Given the description of an element on the screen output the (x, y) to click on. 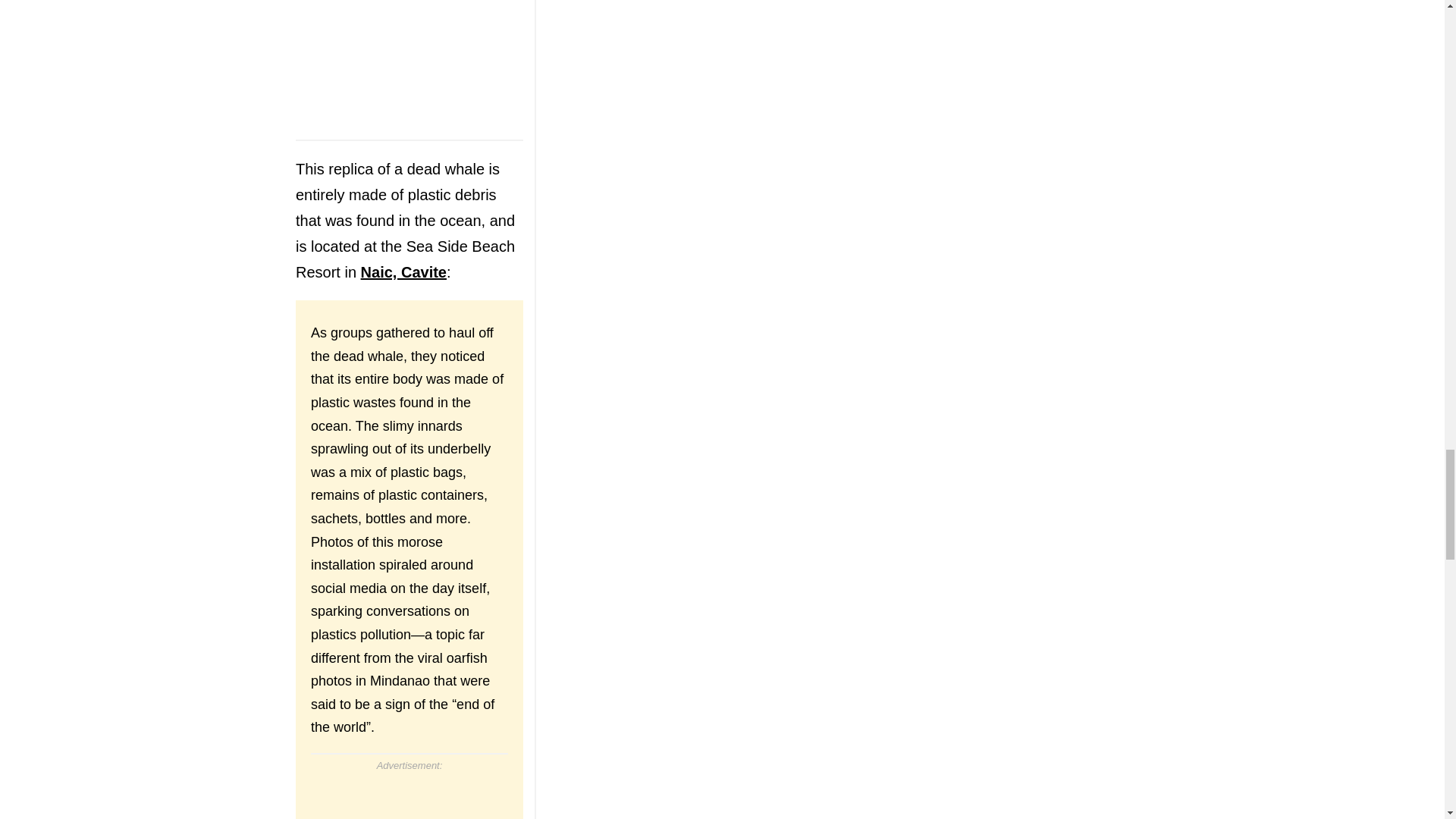
Naic, Cavite (403, 271)
